Given the description of an element on the screen output the (x, y) to click on. 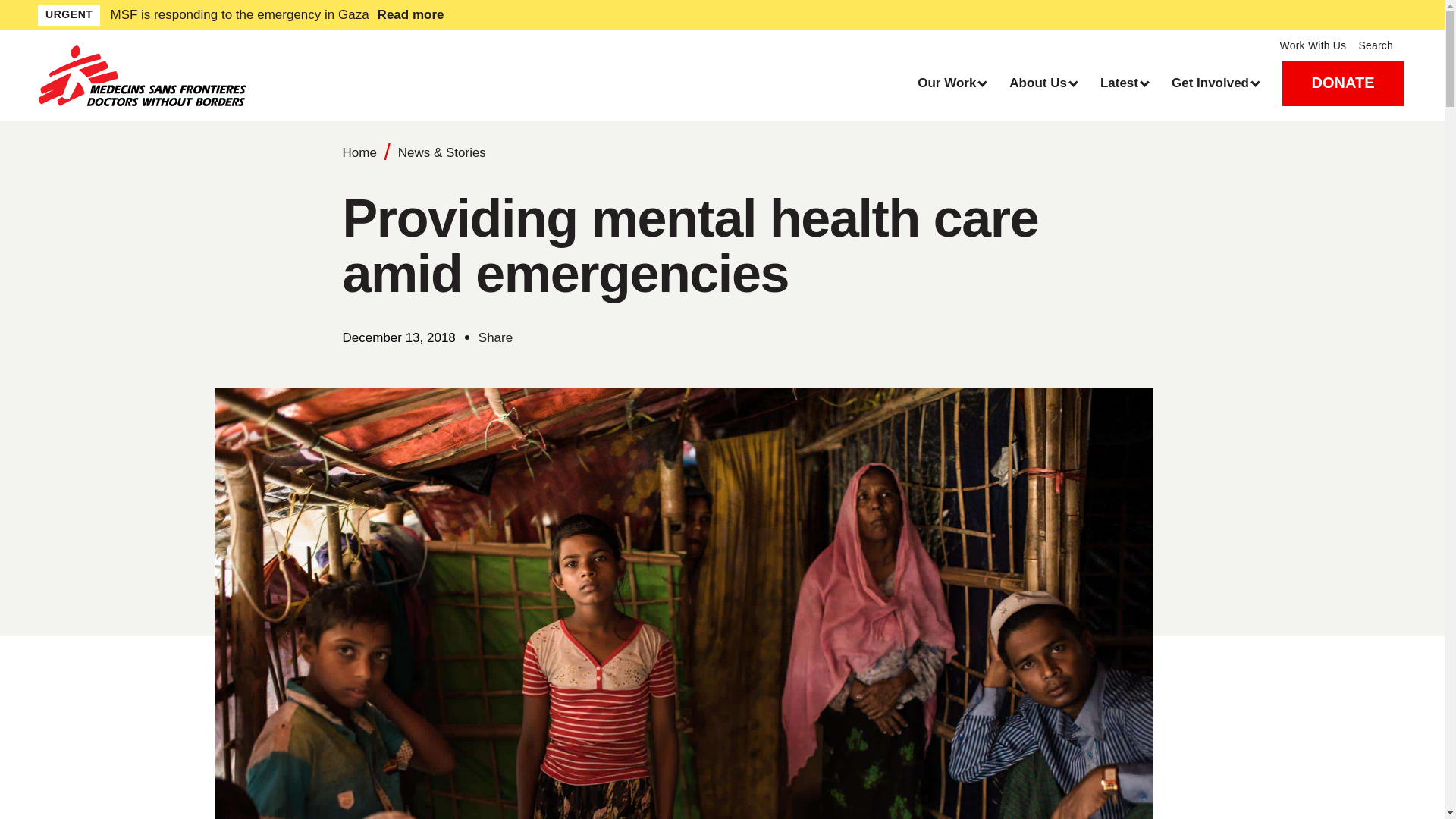
Our Work (951, 83)
Search (1382, 46)
Work With Us (1312, 45)
Read more (548, 14)
Latest (1124, 83)
Home (208, 75)
About Us (1043, 83)
